Given the description of an element on the screen output the (x, y) to click on. 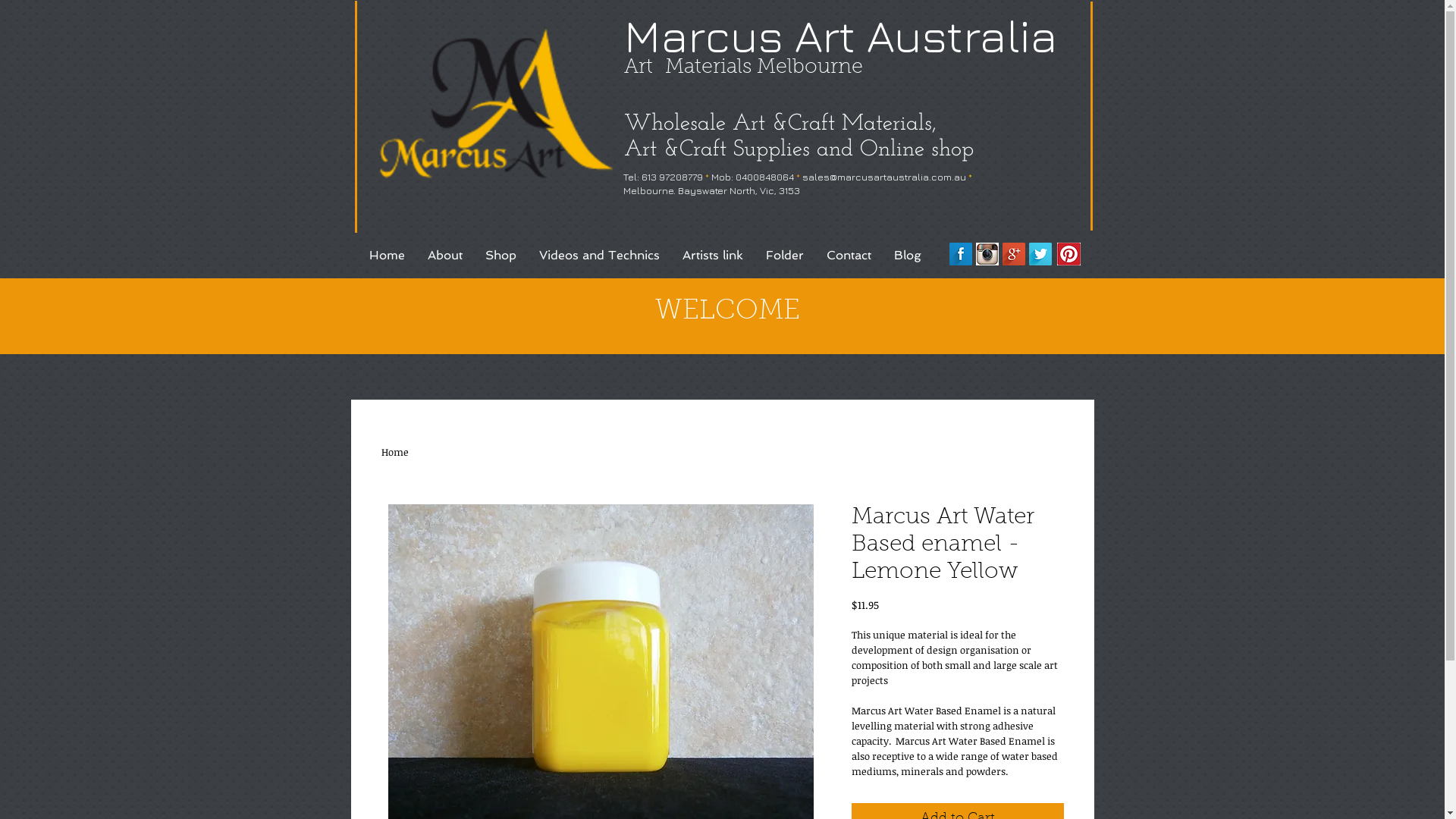
Contact Element type: text (847, 254)
Videos and Technics Element type: text (599, 254)
sales@marcusartaustralia.com.au Element type: text (884, 176)
Home Element type: text (393, 451)
Blog Element type: text (907, 254)
About Element type: text (444, 254)
Artists link Element type: text (711, 254)
Home Element type: text (386, 254)
Shop Element type: text (500, 254)
